Given the description of an element on the screen output the (x, y) to click on. 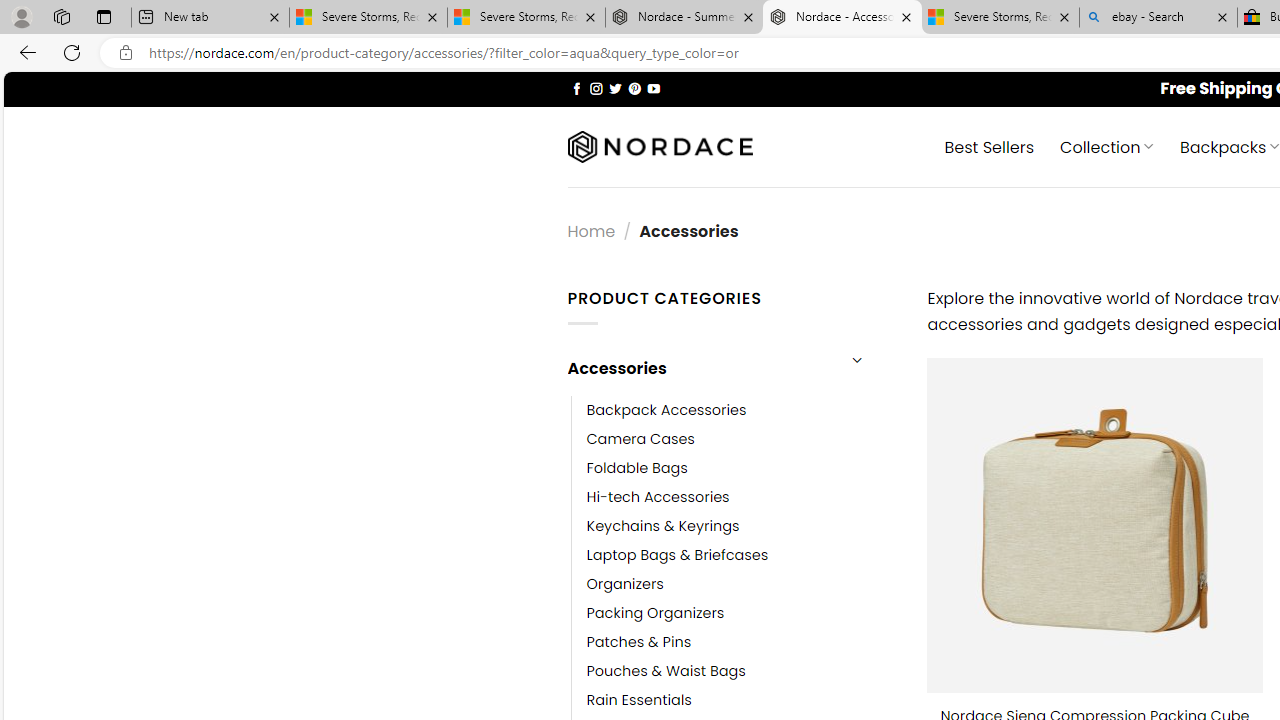
Hi-tech Accessories (742, 496)
Backpack Accessories (742, 409)
Backpack Accessories (666, 409)
Laptop Bags & Briefcases (742, 555)
Accessories (700, 368)
Foldable Bags (742, 467)
Pouches & Waist Bags (742, 671)
Foldable Bags (637, 467)
